Given the description of an element on the screen output the (x, y) to click on. 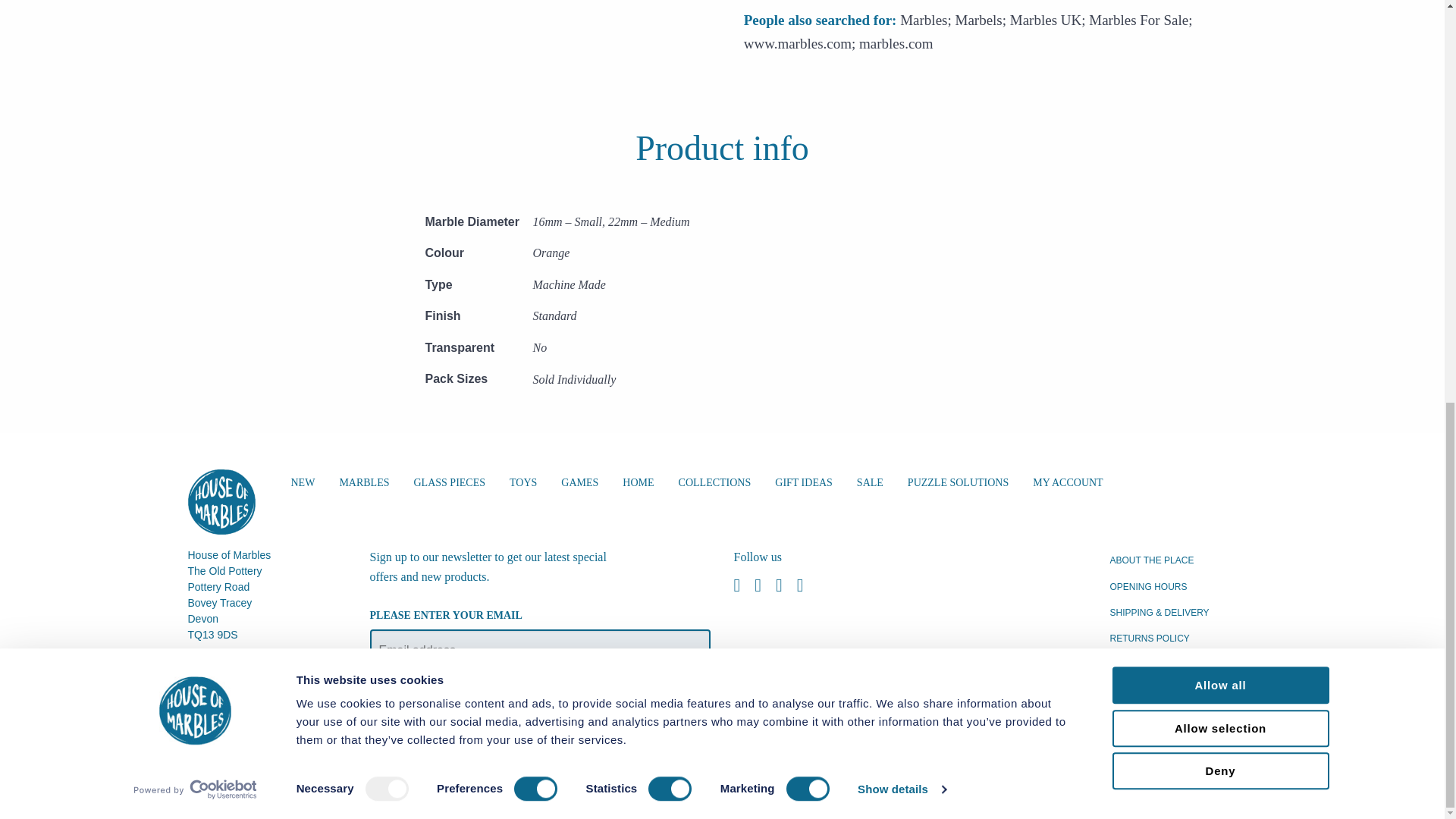
Show details (900, 4)
Subscribe (414, 698)
